Given the description of an element on the screen output the (x, y) to click on. 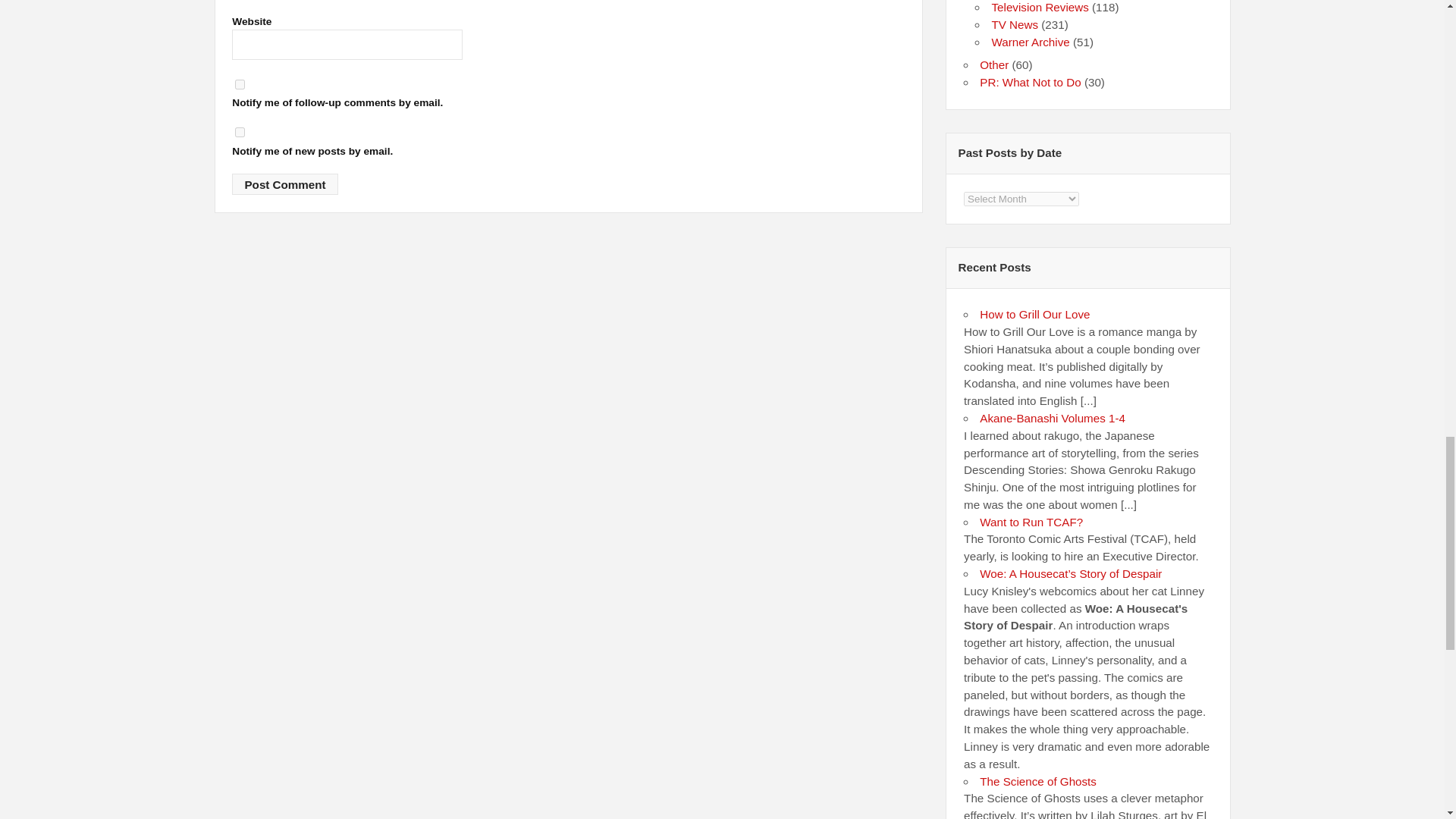
subscribe (239, 84)
Post Comment (284, 183)
subscribe (239, 132)
Post Comment (284, 183)
